Given the description of an element on the screen output the (x, y) to click on. 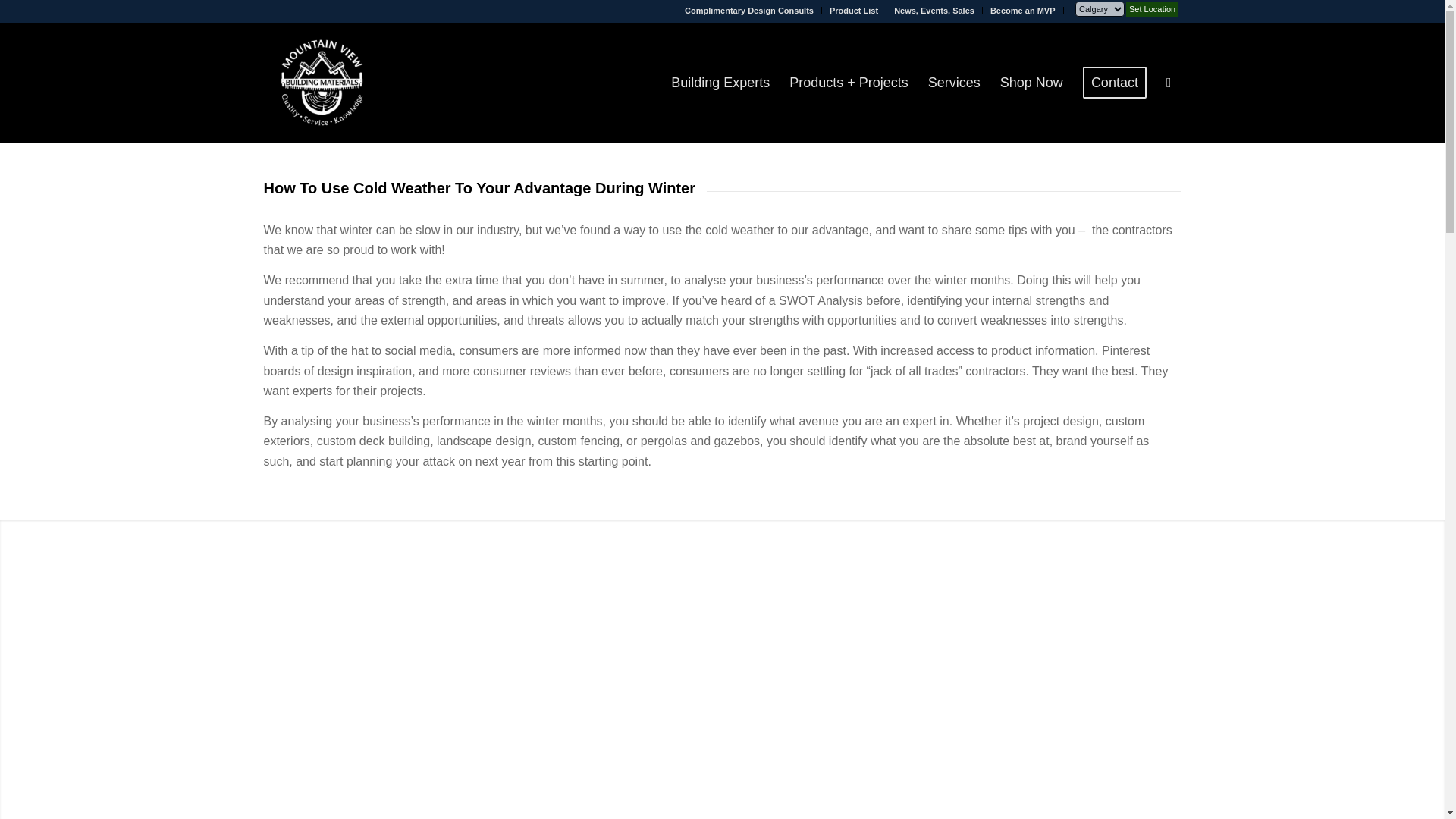
Set Location (1151, 8)
Building Experts (719, 82)
Complimentary Design Consults (748, 9)
News, Events, Sales (933, 9)
Set Location (1151, 8)
Become an MVP (1022, 9)
Product List (853, 9)
